Given the description of an element on the screen output the (x, y) to click on. 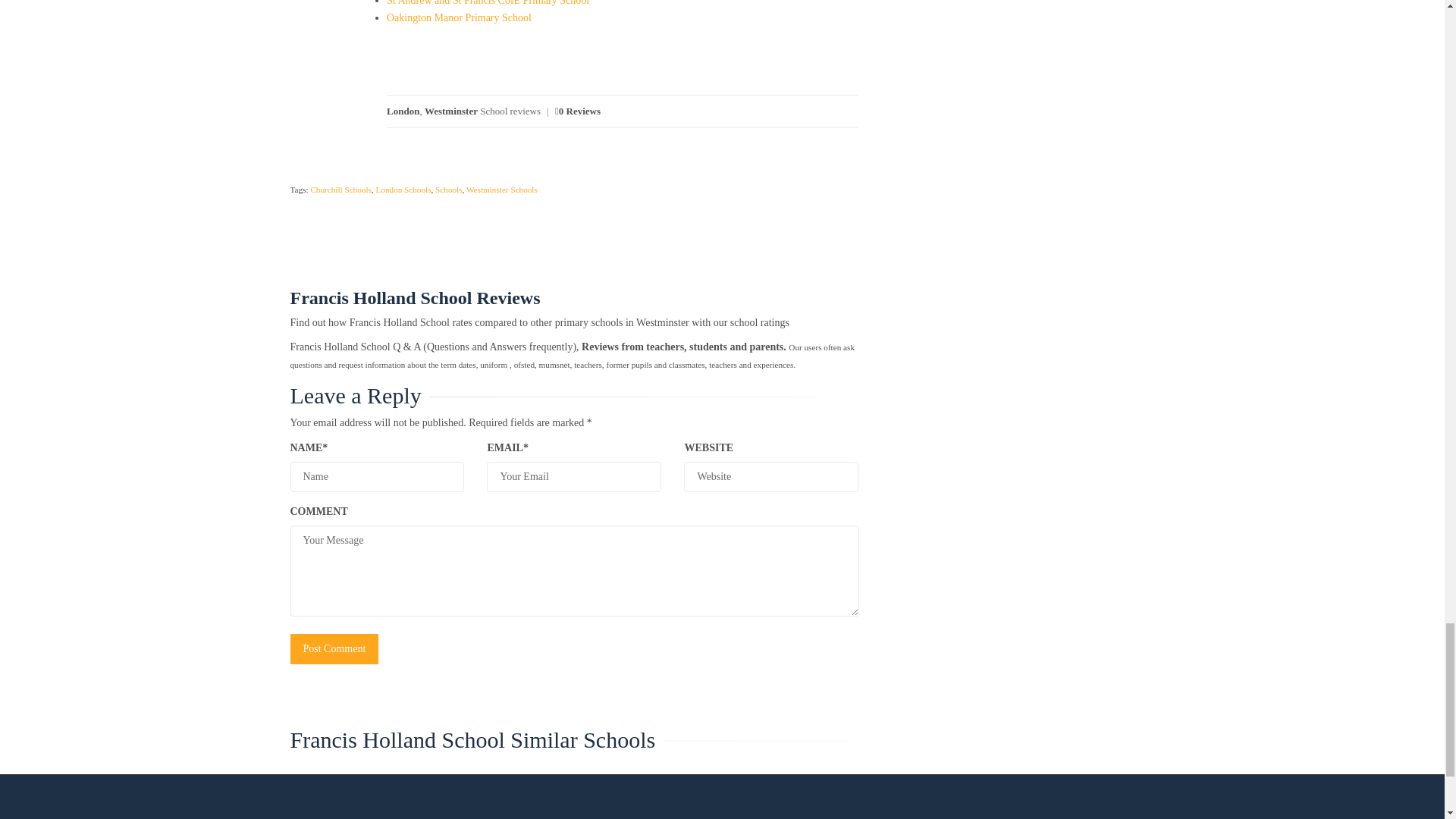
London Schools (402, 189)
Oakington Manor Primary School (459, 17)
Churchill Schools (340, 189)
Post Comment (333, 648)
0 Reviews (576, 111)
London (403, 111)
Westminster (451, 111)
St Andrew and St Francis CofE Primary School (488, 2)
